Given the description of an element on the screen output the (x, y) to click on. 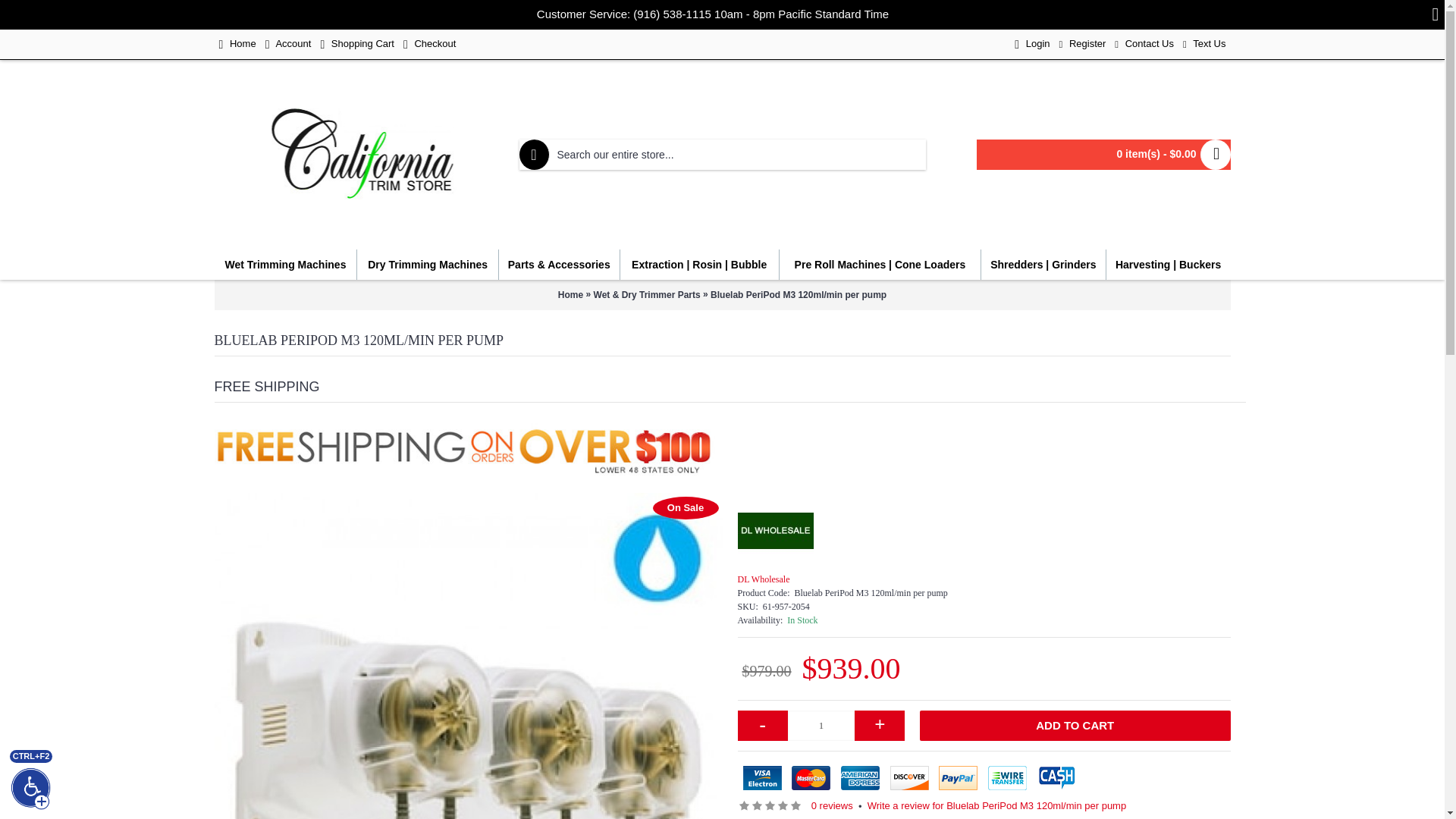
Shopping Cart (356, 44)
Contact Us (1143, 44)
1 (820, 725)
Text Us (1203, 44)
Home (237, 44)
Register (1082, 44)
Checkout (429, 44)
Account (287, 44)
Login (1032, 44)
Wet Trimming Machines (285, 264)
